Given the description of an element on the screen output the (x, y) to click on. 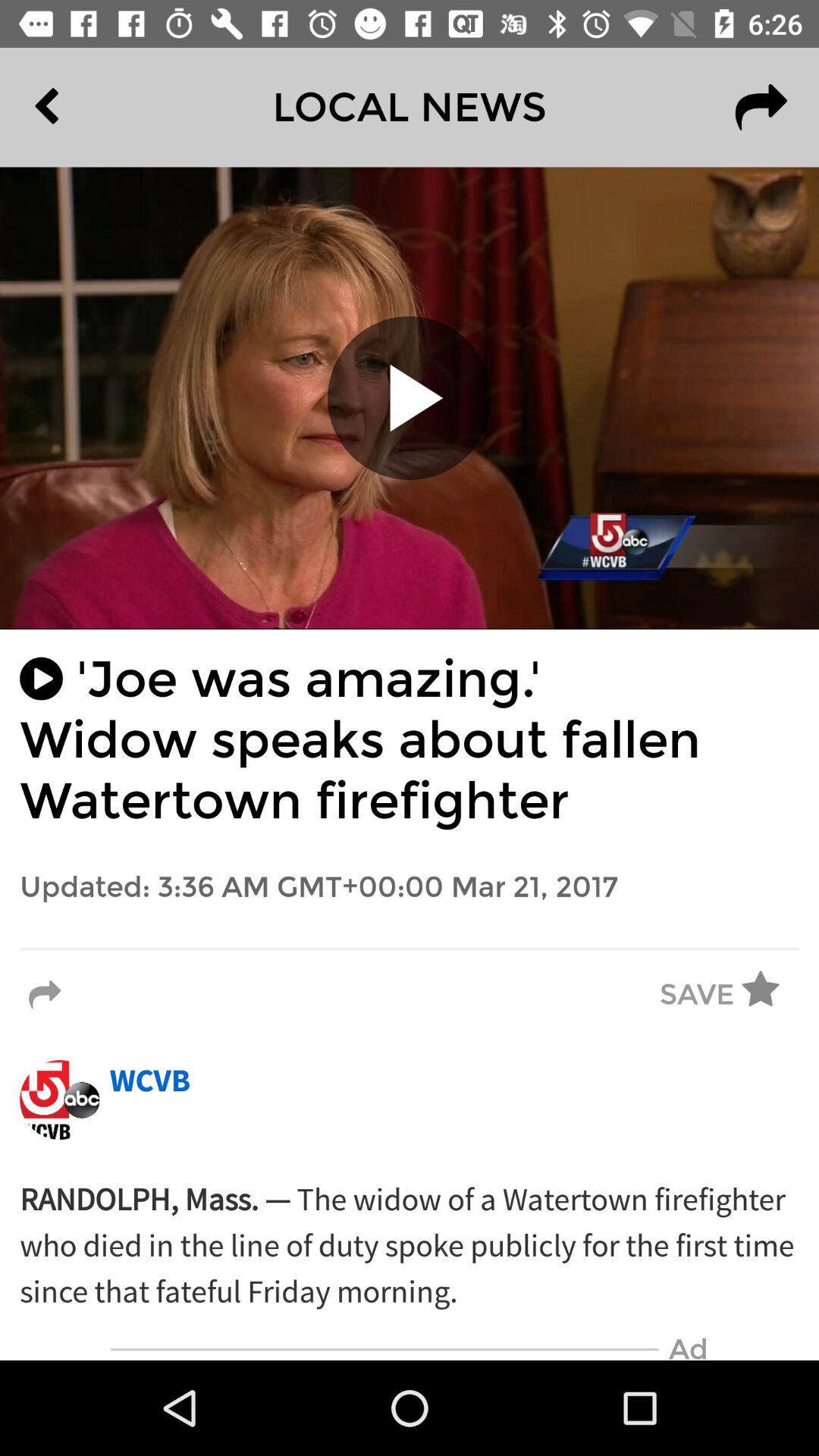
swipe until the updated 3 36 (409, 887)
